Given the description of an element on the screen output the (x, y) to click on. 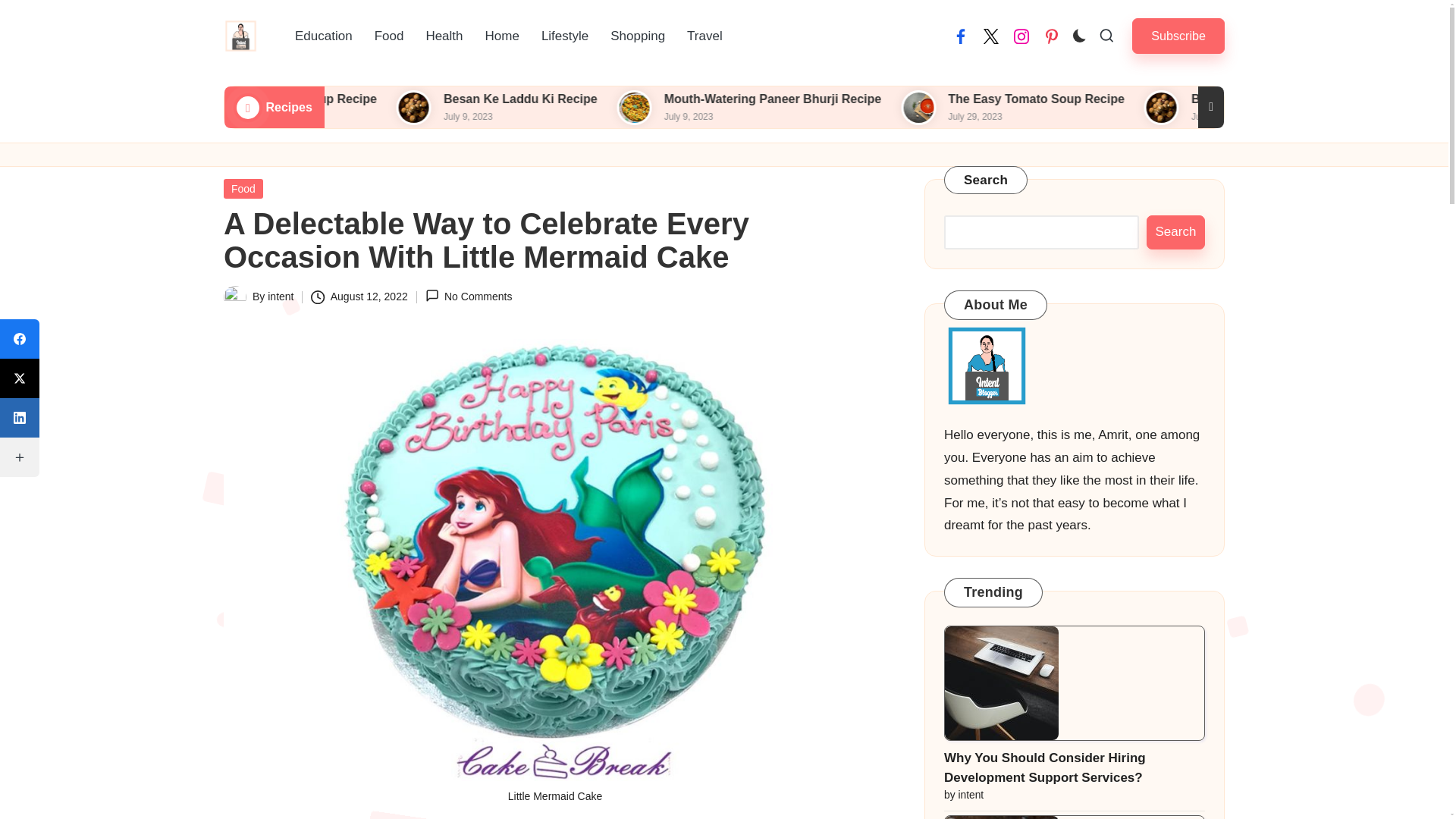
Facebook (960, 36)
Education (322, 36)
Food (389, 36)
Lifestyle (564, 36)
Pinterest (1051, 36)
Twitter (990, 36)
Mouth-Watering Paneer Bhurji Recipe (898, 98)
intent (280, 296)
The Easy Tomato Soup Recipe (419, 98)
Instagram (1020, 36)
Home (501, 36)
Besan Ke Laddu Ki Recipe (649, 98)
Subscribe (1178, 36)
Health (443, 36)
The Easy Tomato Soup Recipe (1159, 98)
